Given the description of an element on the screen output the (x, y) to click on. 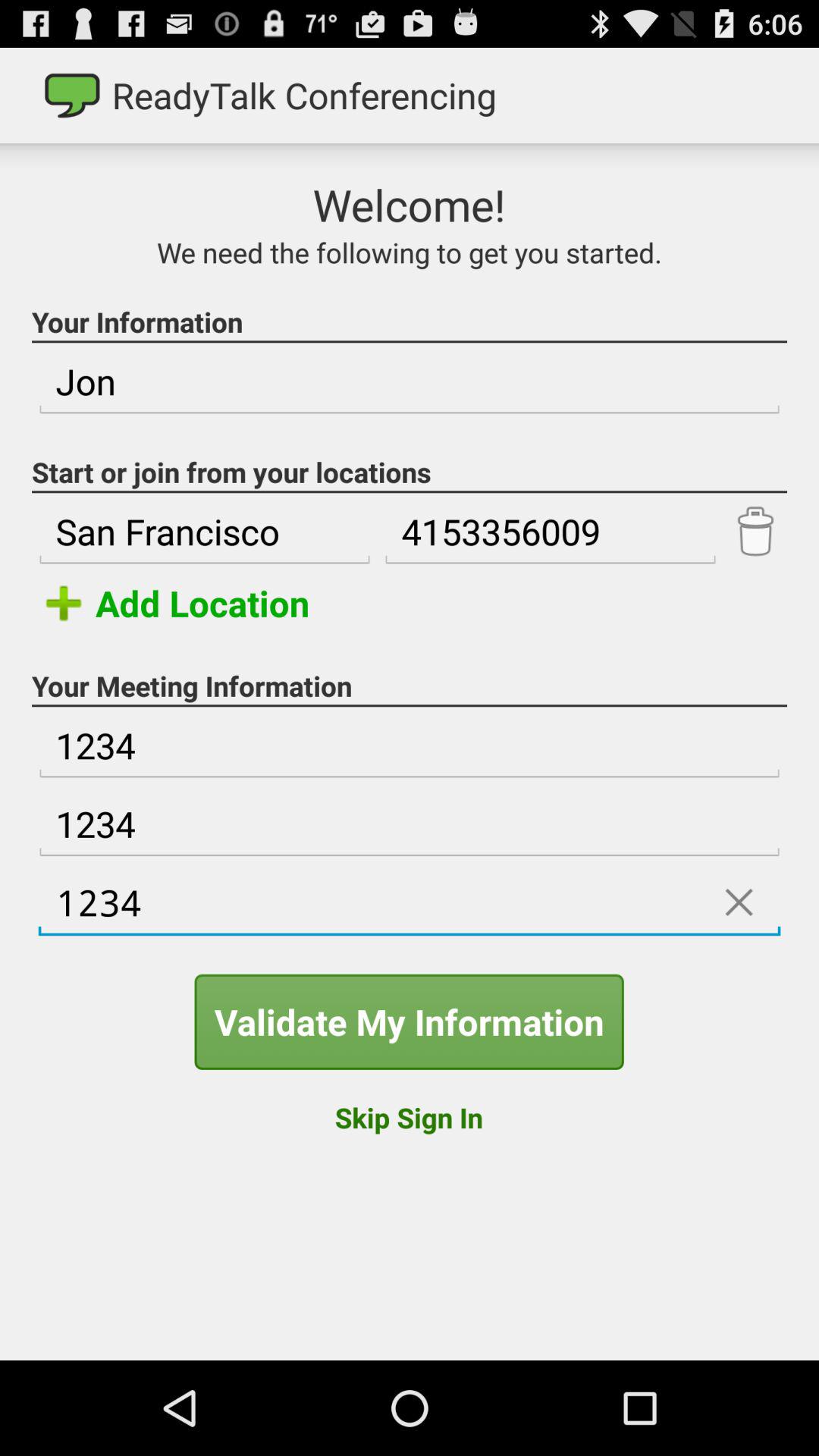
tap the item next to 4153356009 (204, 532)
